Given the description of an element on the screen output the (x, y) to click on. 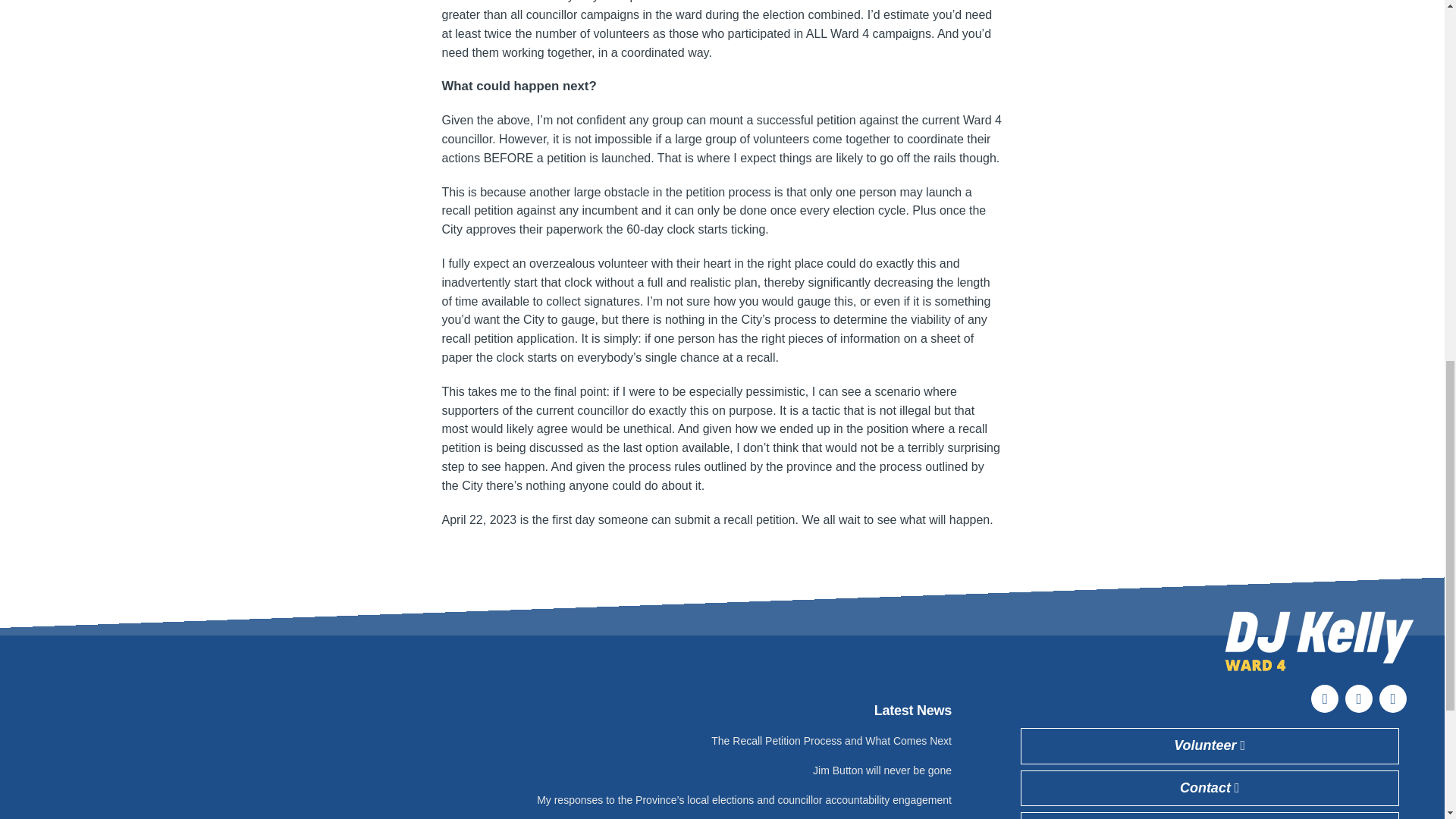
Volunteer (1209, 746)
Jim Button will never be gone (882, 770)
Contact (1209, 788)
Request A Lawn Sign (1209, 815)
The Recall Petition Process and What Comes Next (831, 740)
